Given the description of an element on the screen output the (x, y) to click on. 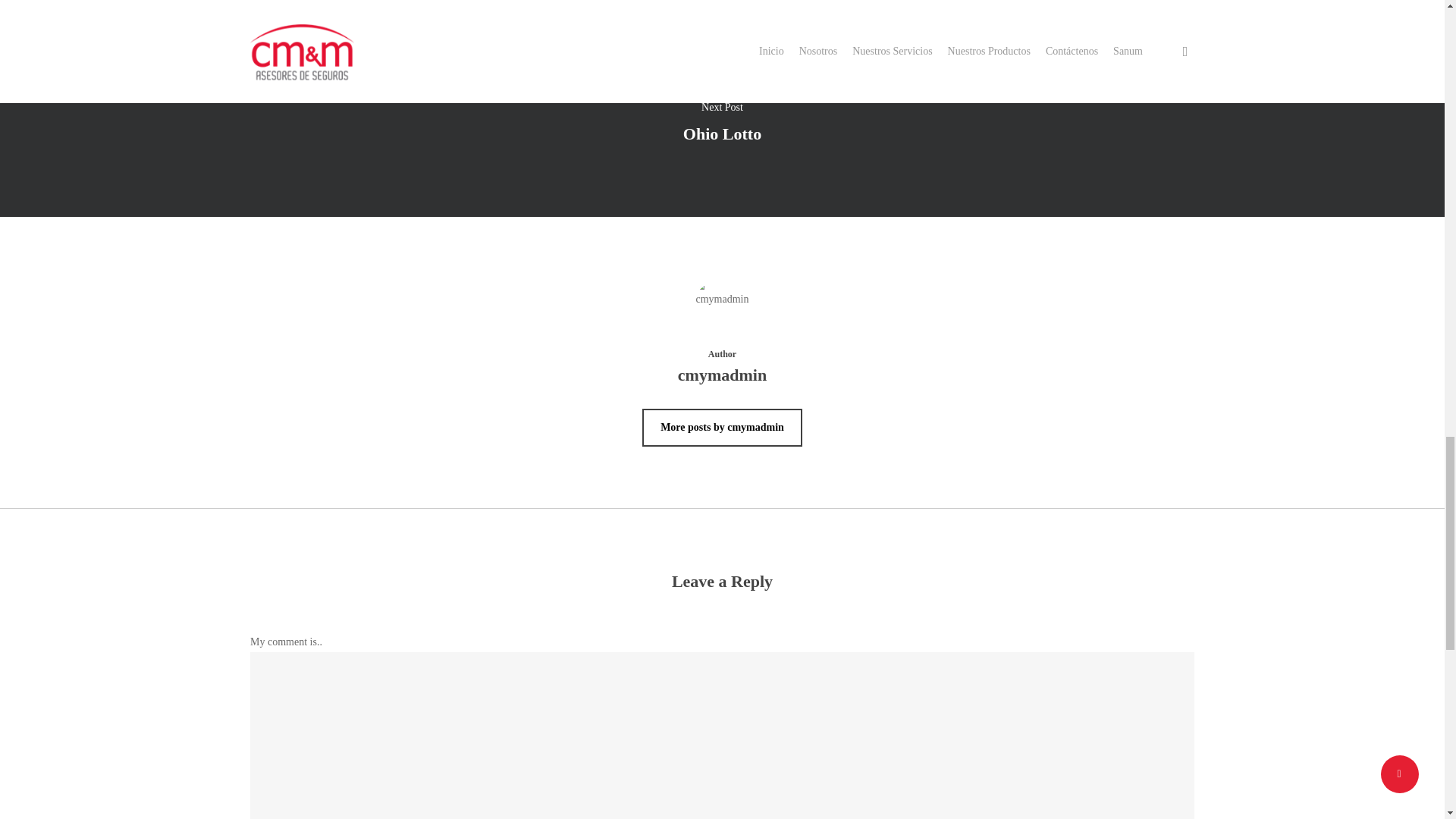
More posts by cmymadmin (722, 427)
Ohio Lotto (722, 134)
